Given the description of an element on the screen output the (x, y) to click on. 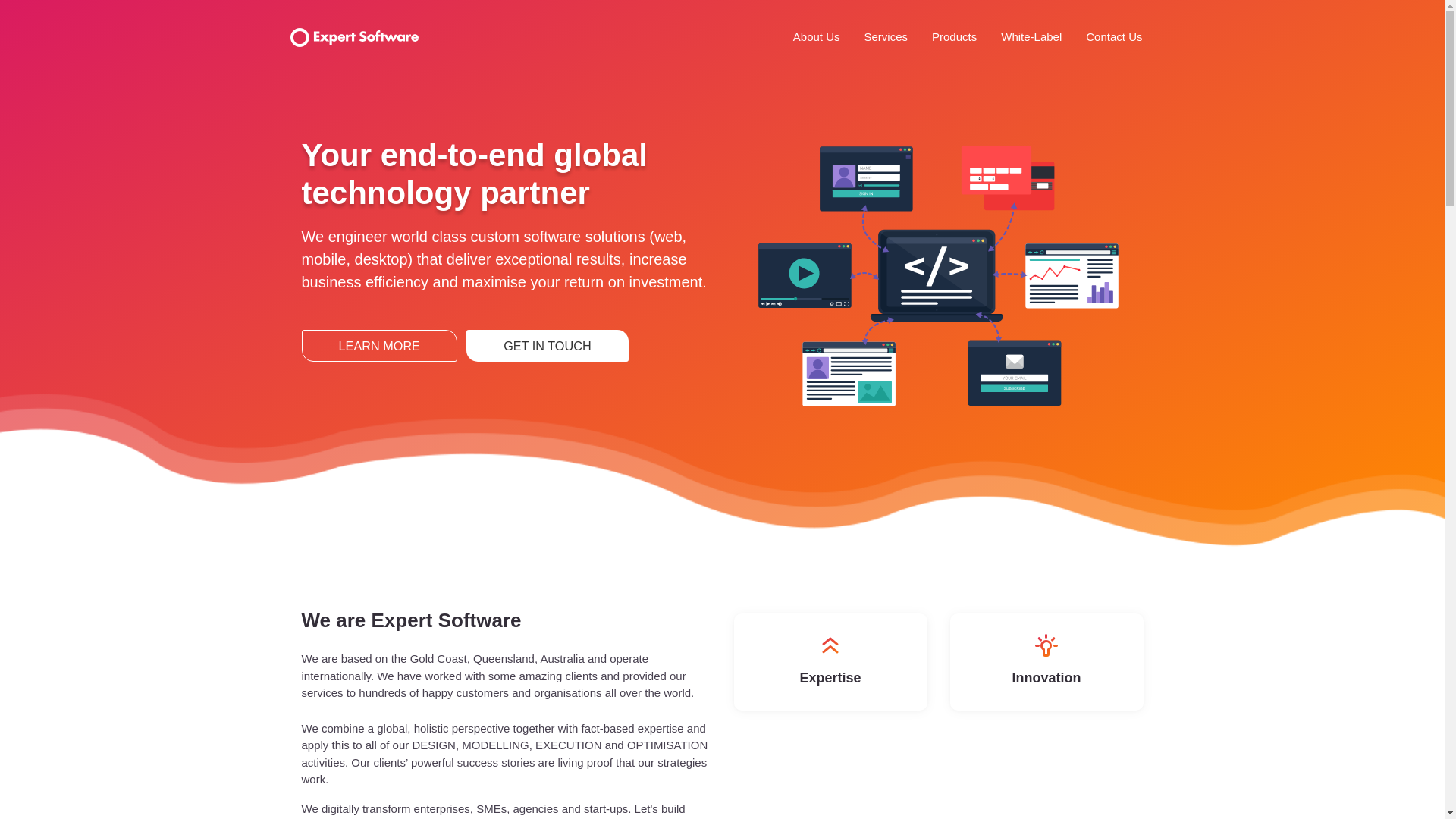
About Us Element type: text (816, 37)
GET IN TOUCH Element type: text (547, 345)
White-Label Element type: text (1030, 37)
Services Element type: text (886, 37)
Contact Us Element type: text (1113, 37)
LEARN MORE Element type: text (379, 345)
Products Element type: text (953, 37)
